Given the description of an element on the screen output the (x, y) to click on. 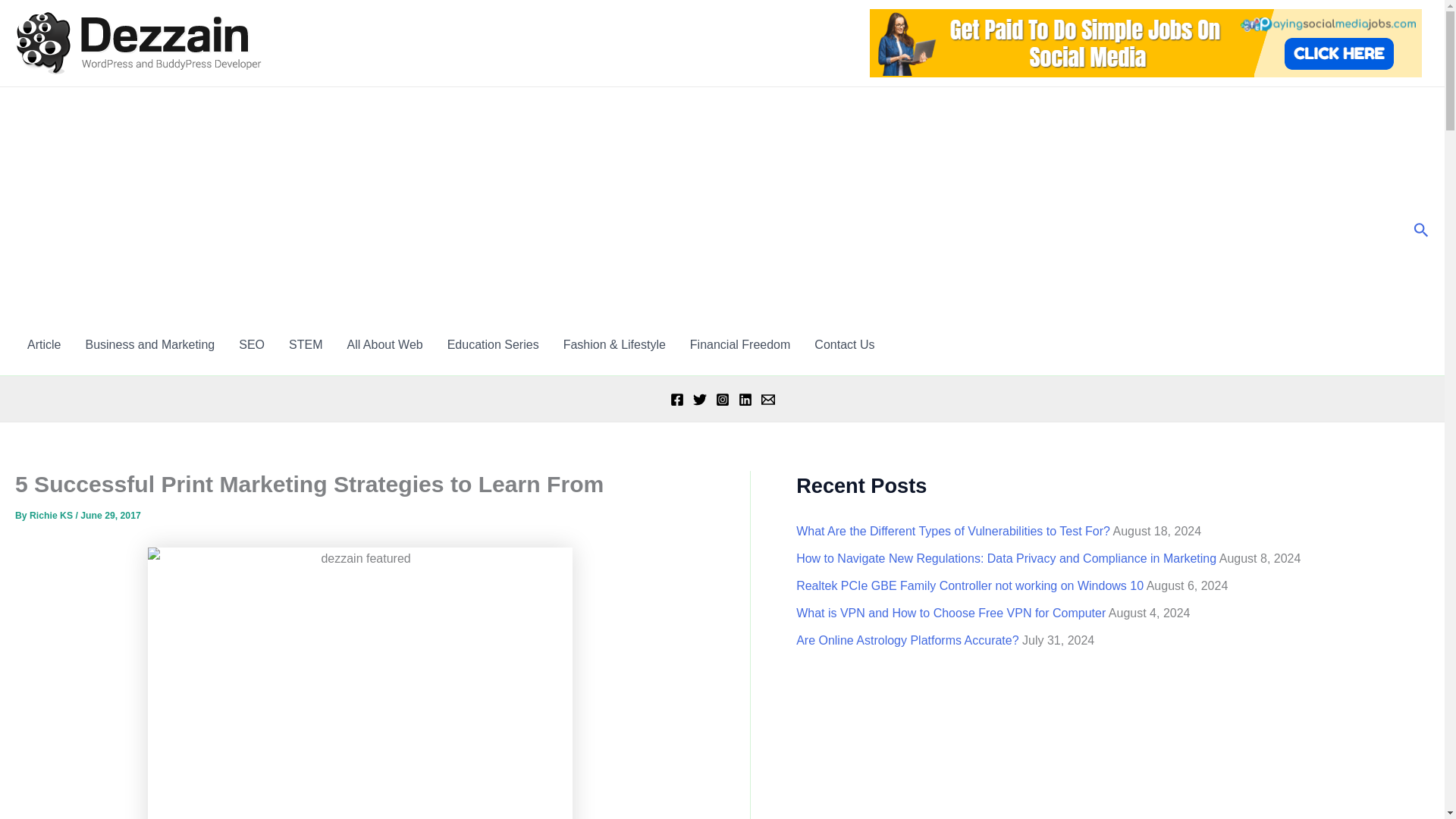
Financial Freedom (740, 344)
Richie KS (52, 515)
Education Series (493, 344)
View all posts by Richie KS (52, 515)
Contact Us (844, 344)
STEM (305, 344)
Business and Marketing (149, 344)
Article (43, 344)
any inquiries? (844, 344)
